Given the description of an element on the screen output the (x, y) to click on. 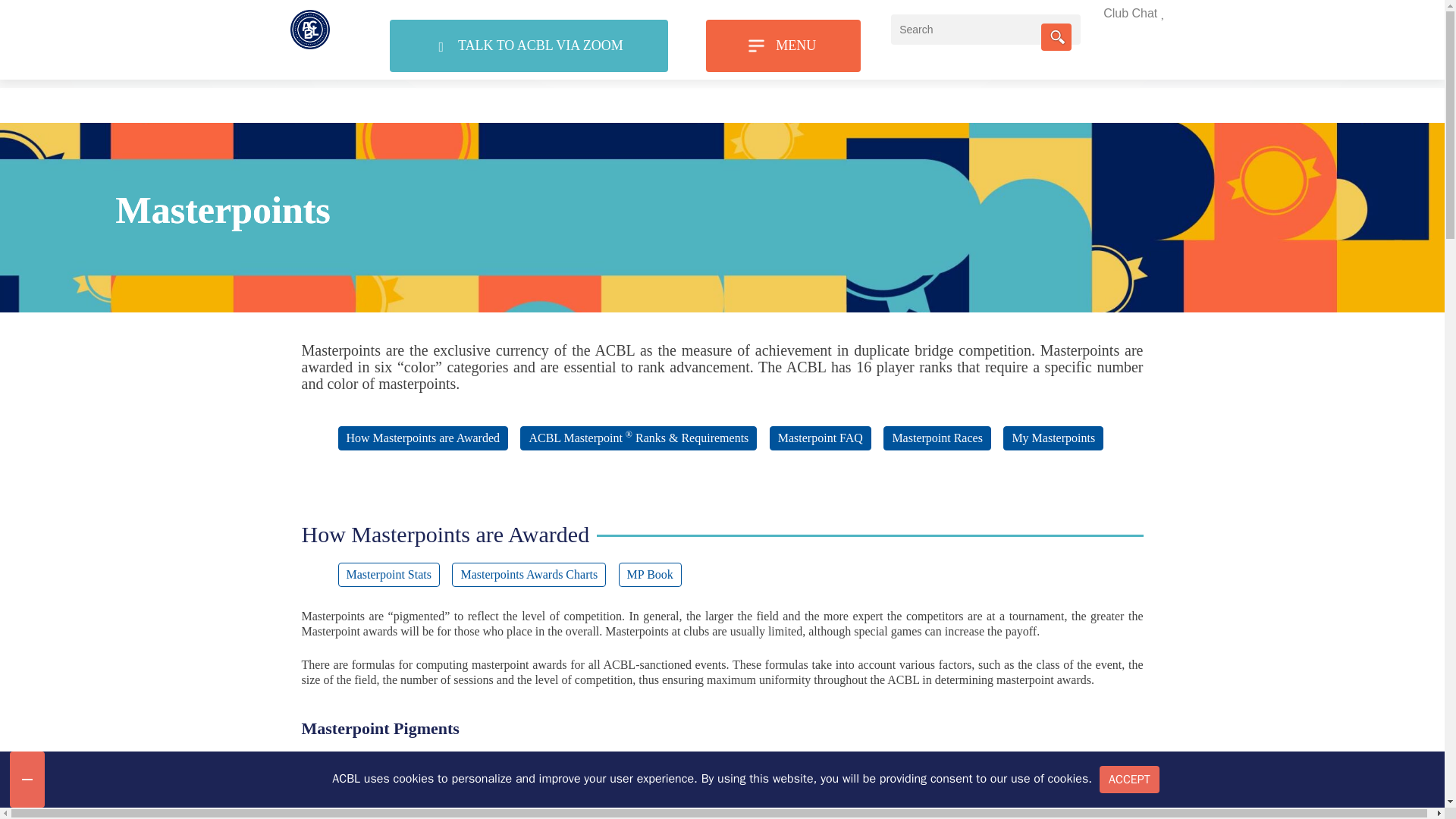
Join (822, 15)
MyACBL (771, 15)
Instagram (1123, 15)
Renew (870, 15)
TALK TO ACBL VIA ZOOM (529, 45)
YouTube (1057, 15)
MENU (783, 45)
Twitter (997, 15)
Facebook (935, 15)
Search (1056, 36)
